Given the description of an element on the screen output the (x, y) to click on. 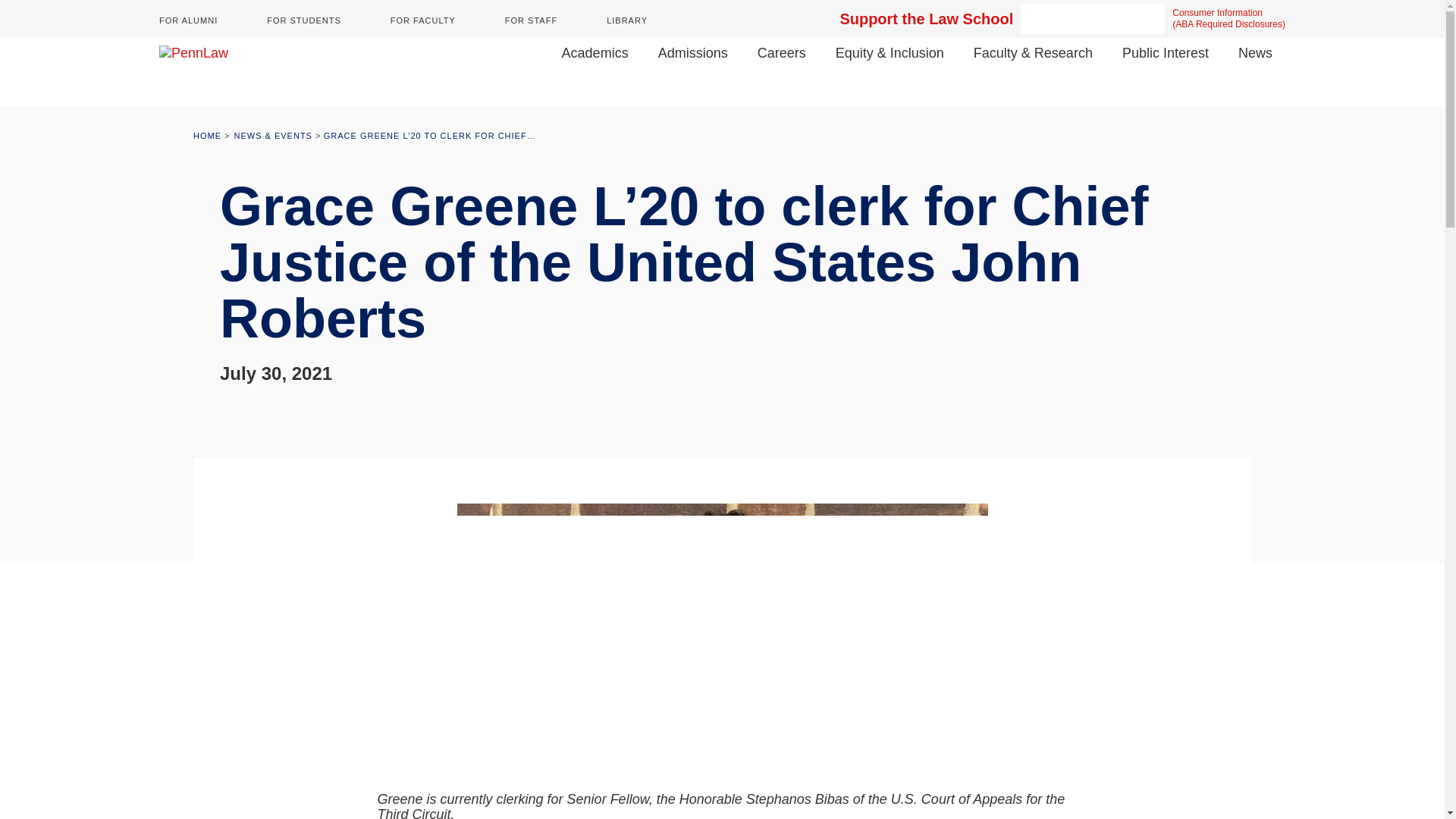
FOR FACULTY (422, 20)
Support the Law School (926, 18)
FOR STUDENTS (303, 20)
Careers (787, 52)
LIBRARY (627, 20)
Submit (1149, 19)
Submit (1149, 19)
FOR STAFF (531, 20)
Admissions (699, 52)
Academics (602, 52)
